Given the description of an element on the screen output the (x, y) to click on. 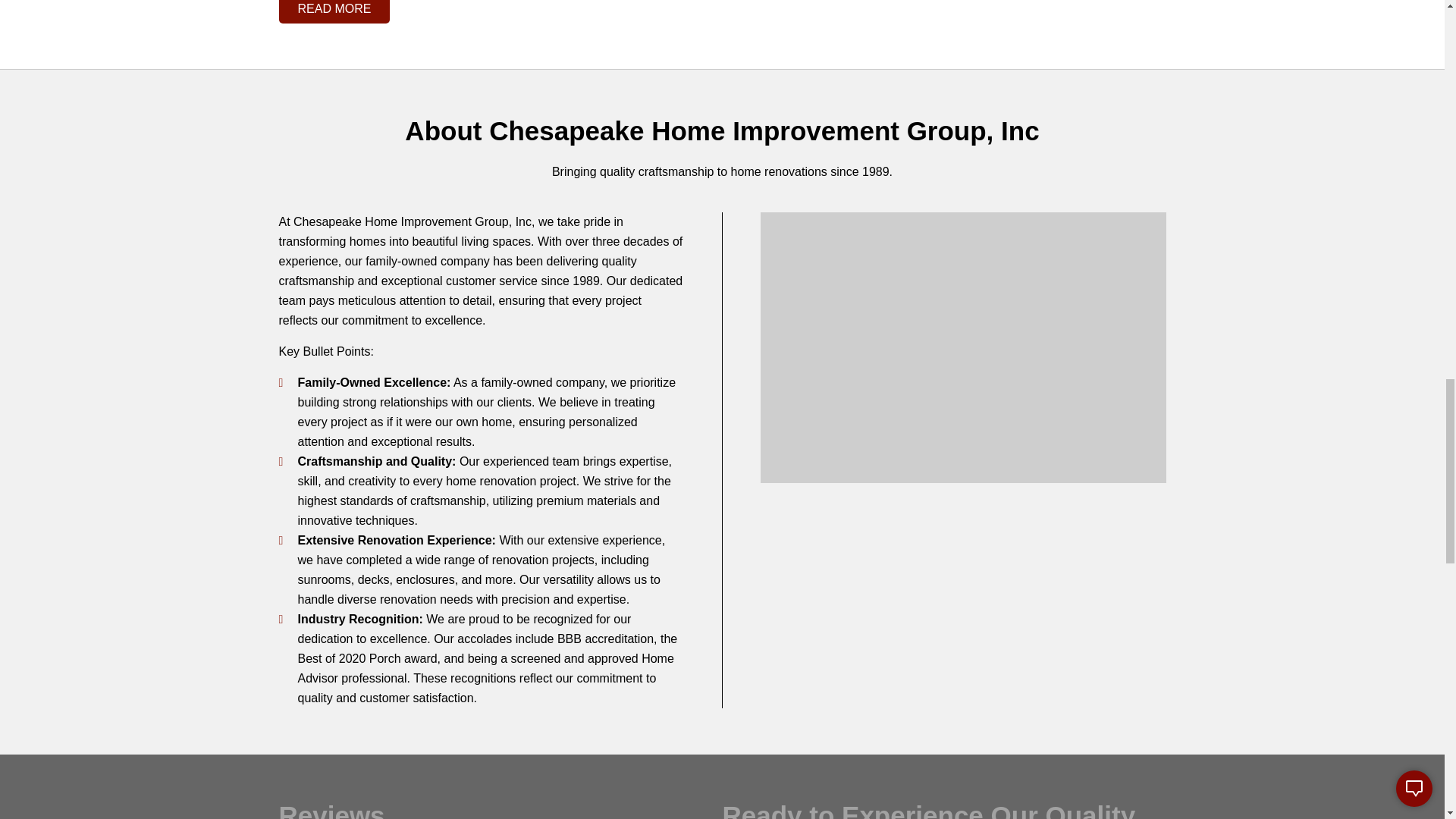
About Us (963, 347)
